Given the description of an element on the screen output the (x, y) to click on. 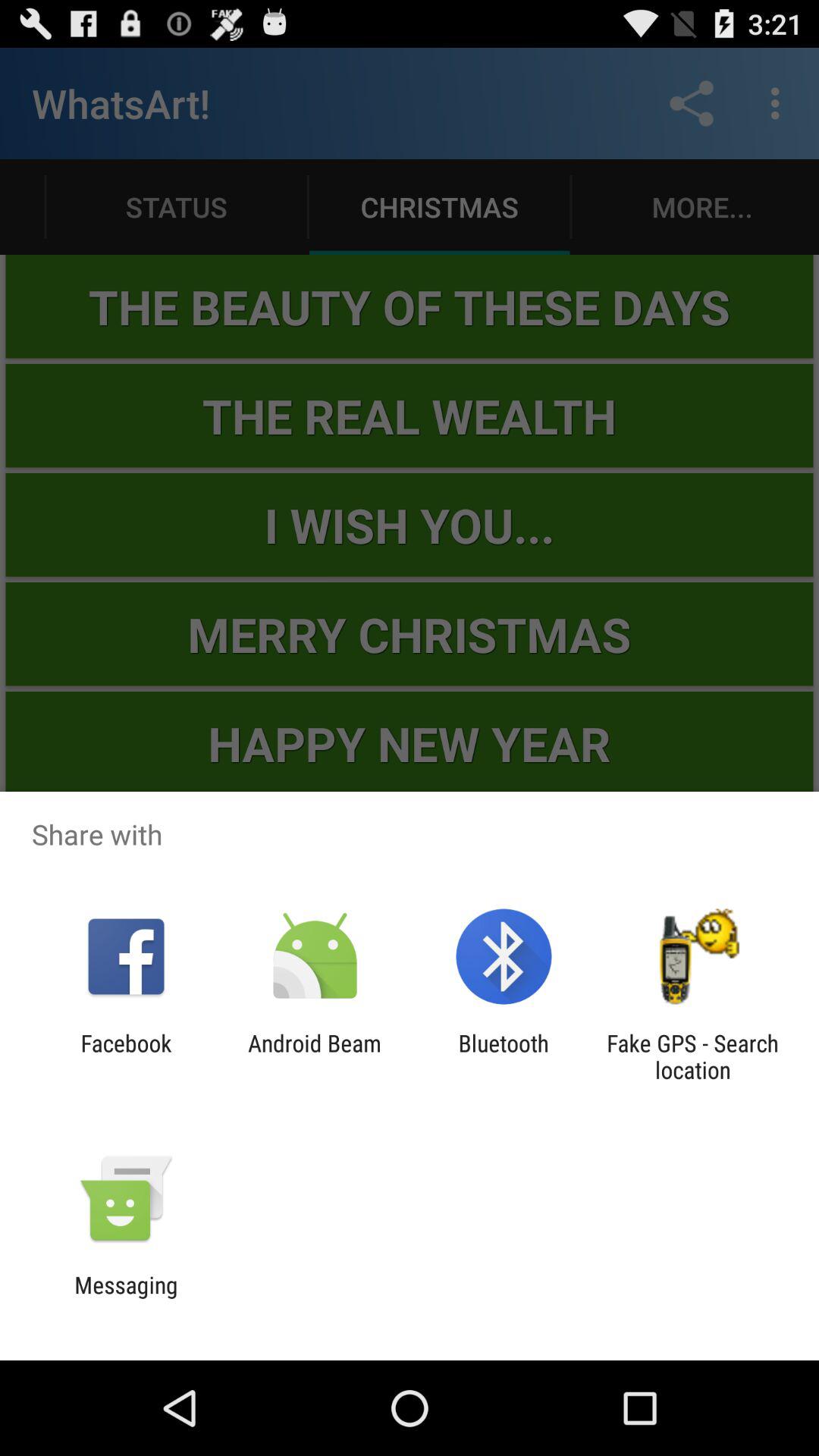
choose icon to the right of the facebook item (314, 1056)
